Given the description of an element on the screen output the (x, y) to click on. 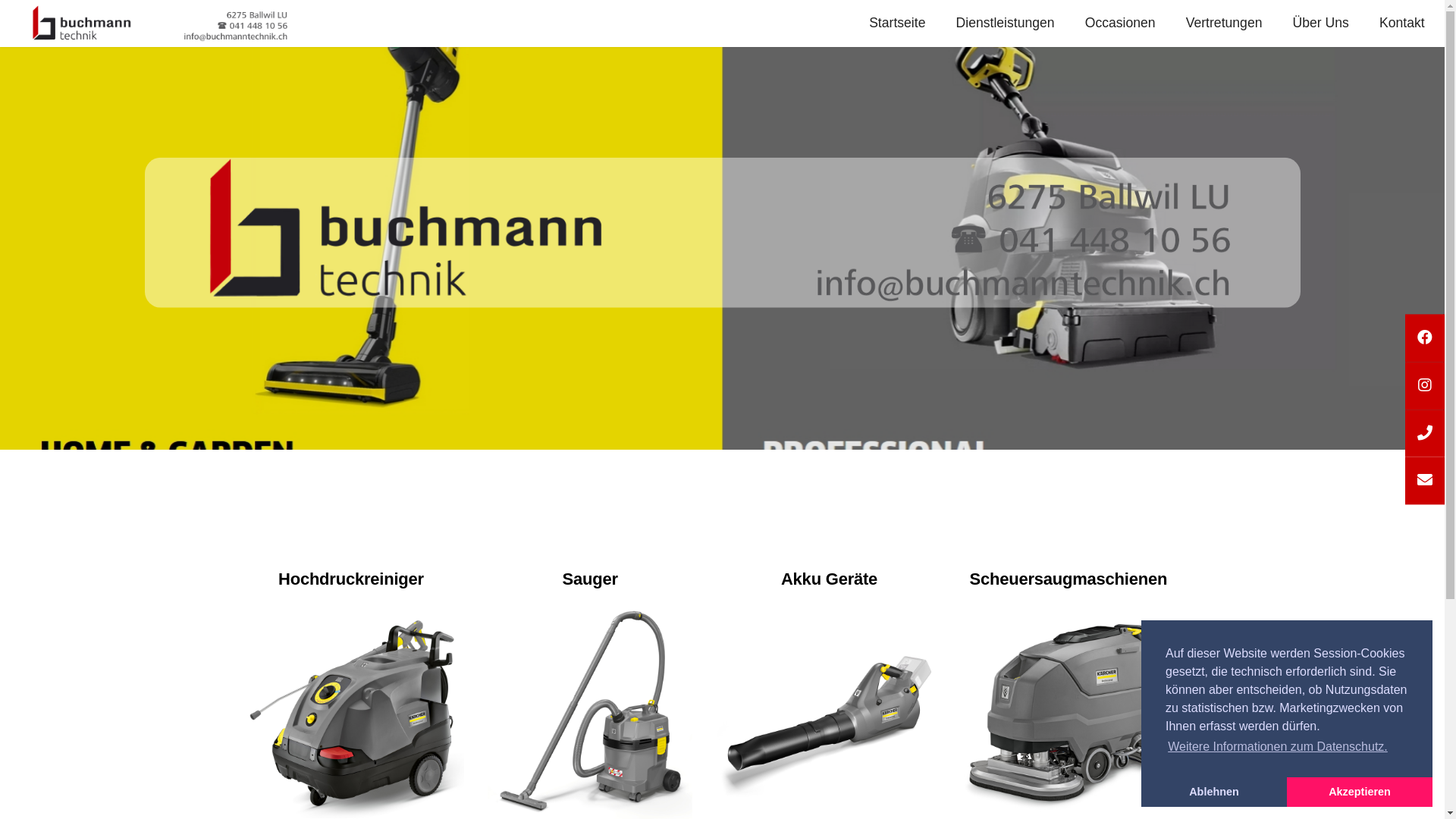
Occasionen Element type: text (1120, 23)
Startseite Element type: text (897, 23)
Ablehnen Element type: text (1213, 791)
Akzeptieren Element type: text (1359, 791)
Weitere Informationen zum Datenschutz. Element type: text (1277, 746)
Kontakt Element type: text (1401, 23)
Dienstleistungen Element type: text (1005, 23)
Vertretungen Element type: text (1224, 23)
